Given the description of an element on the screen output the (x, y) to click on. 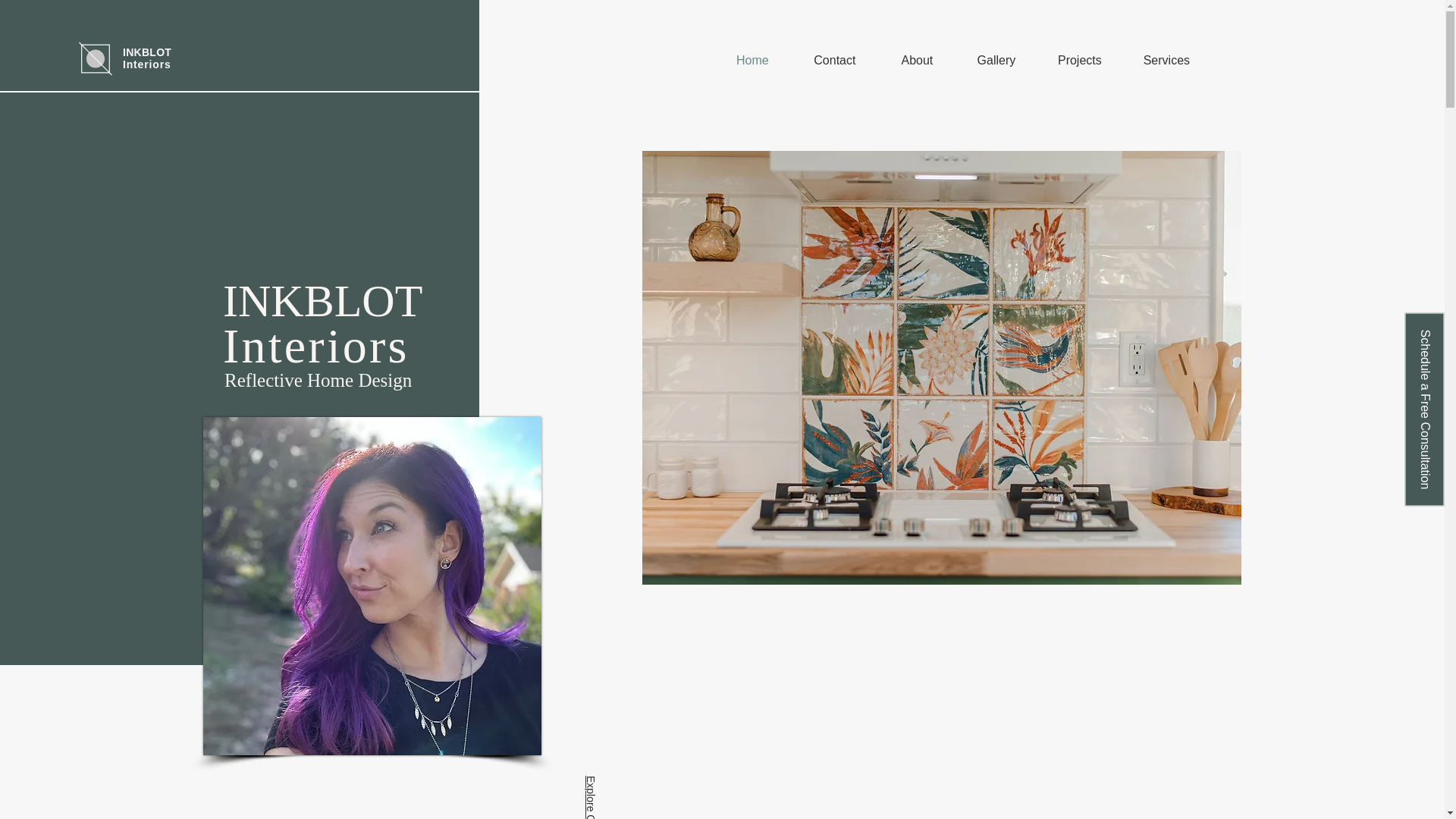
About (916, 60)
Explore Our Work (626, 781)
Interiors (146, 64)
INKBLOT (146, 51)
Projects (1079, 60)
Gallery (996, 60)
Contact (834, 60)
Services (1165, 60)
Home (752, 60)
